Given the description of an element on the screen output the (x, y) to click on. 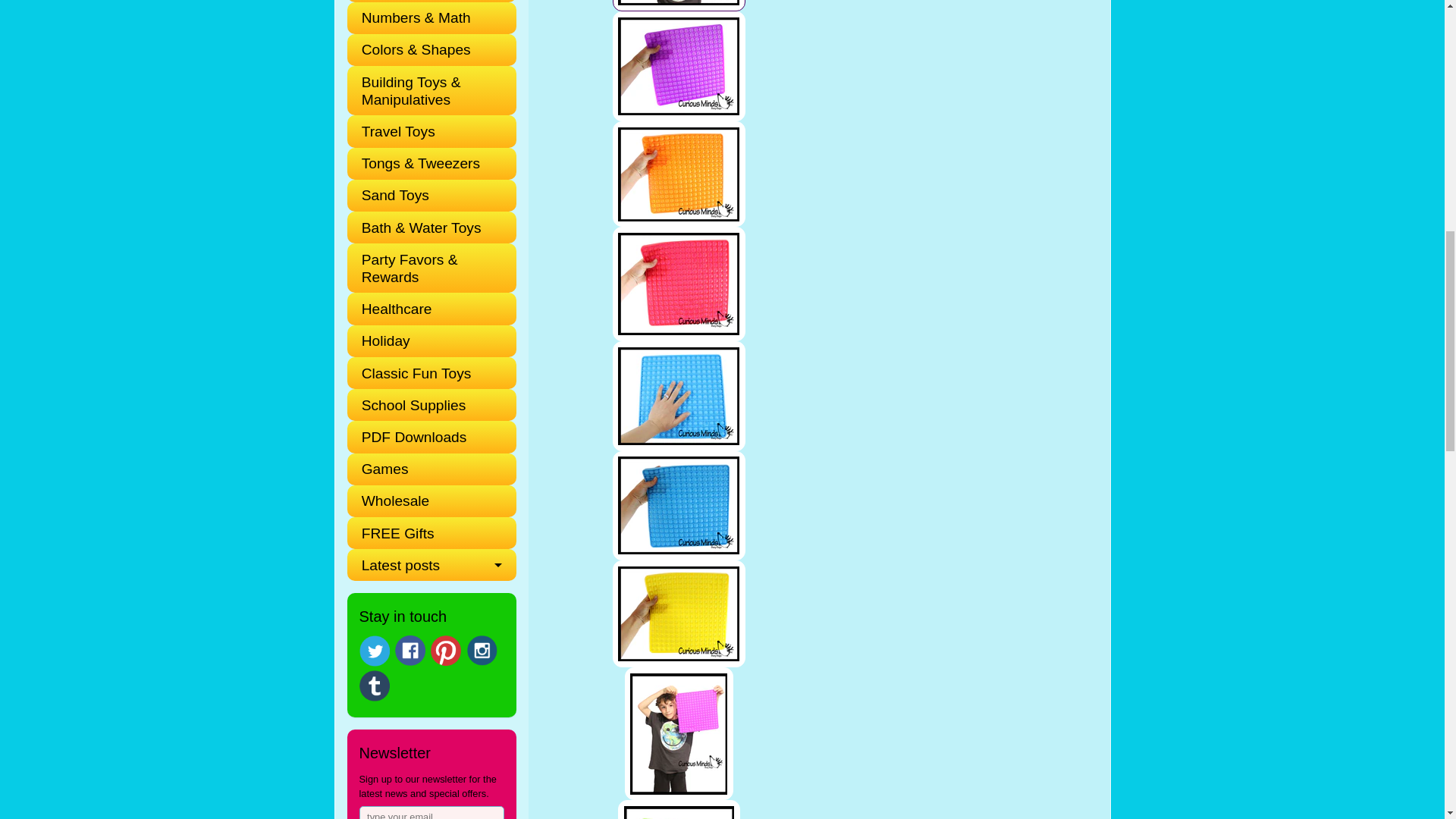
Travel Toys (424, 131)
Instagram (482, 650)
Twitter (374, 650)
Pinterest (445, 650)
Sand Toys (424, 194)
Facebook (409, 650)
Tumblr (374, 685)
